Given the description of an element on the screen output the (x, y) to click on. 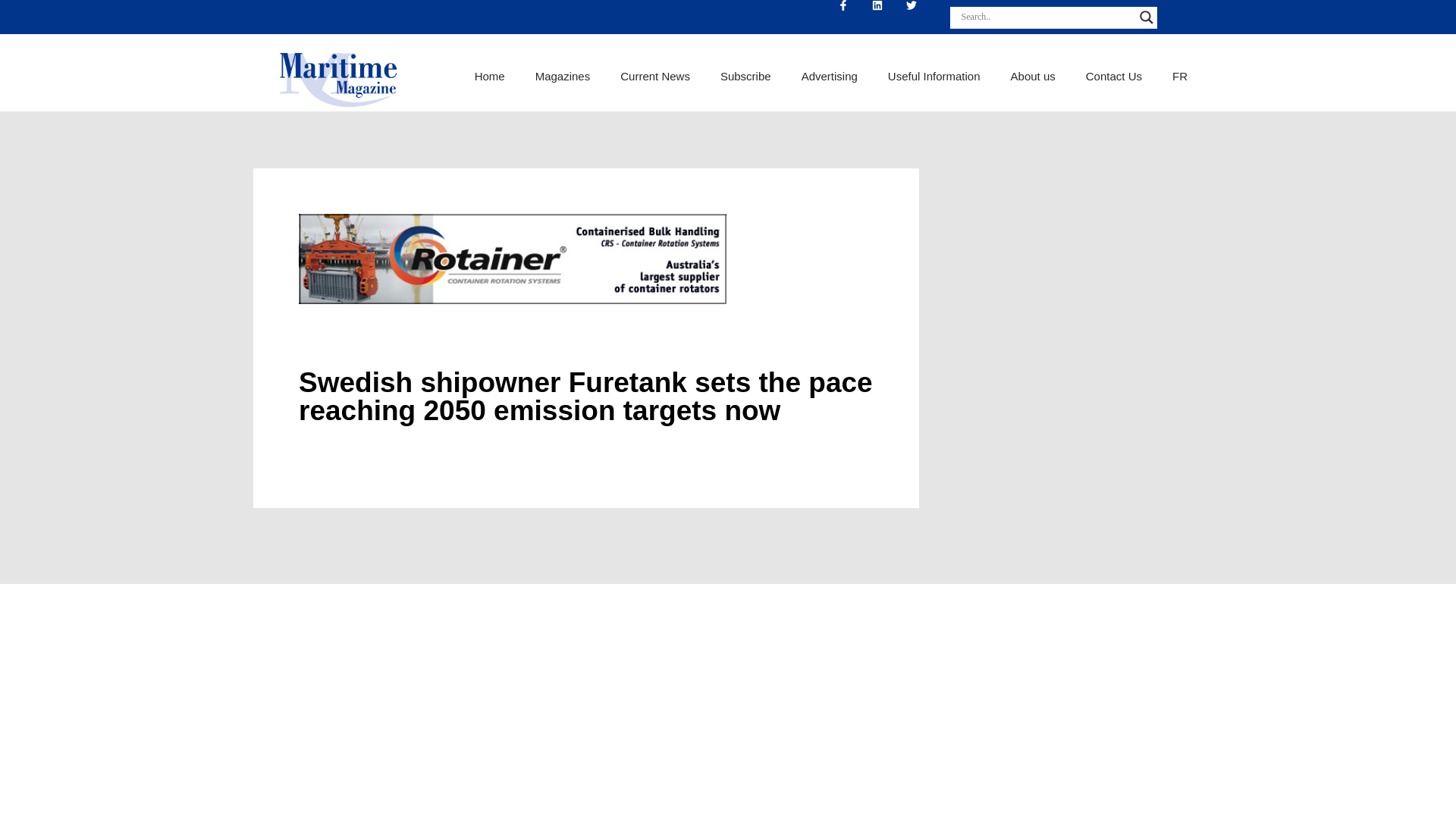
Twitter (922, 17)
Current News (654, 76)
Facebook-f (855, 17)
Home (489, 76)
Contact Us (1113, 76)
Subscribe (745, 76)
Advertising (829, 76)
Useful Information (933, 76)
Linkedin (888, 17)
Magazines (562, 76)
